Given the description of an element on the screen output the (x, y) to click on. 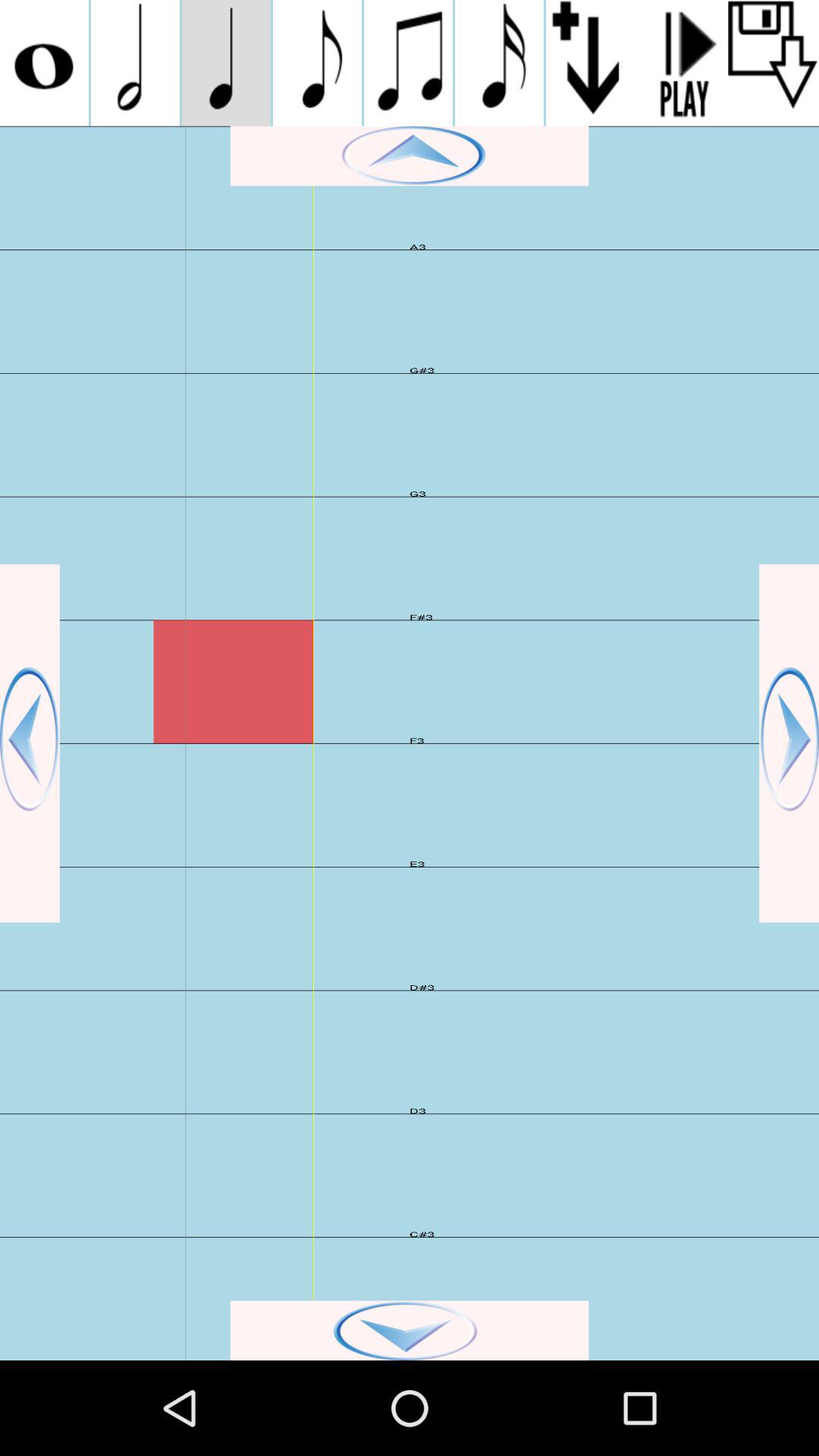
save to file (773, 63)
